Given the description of an element on the screen output the (x, y) to click on. 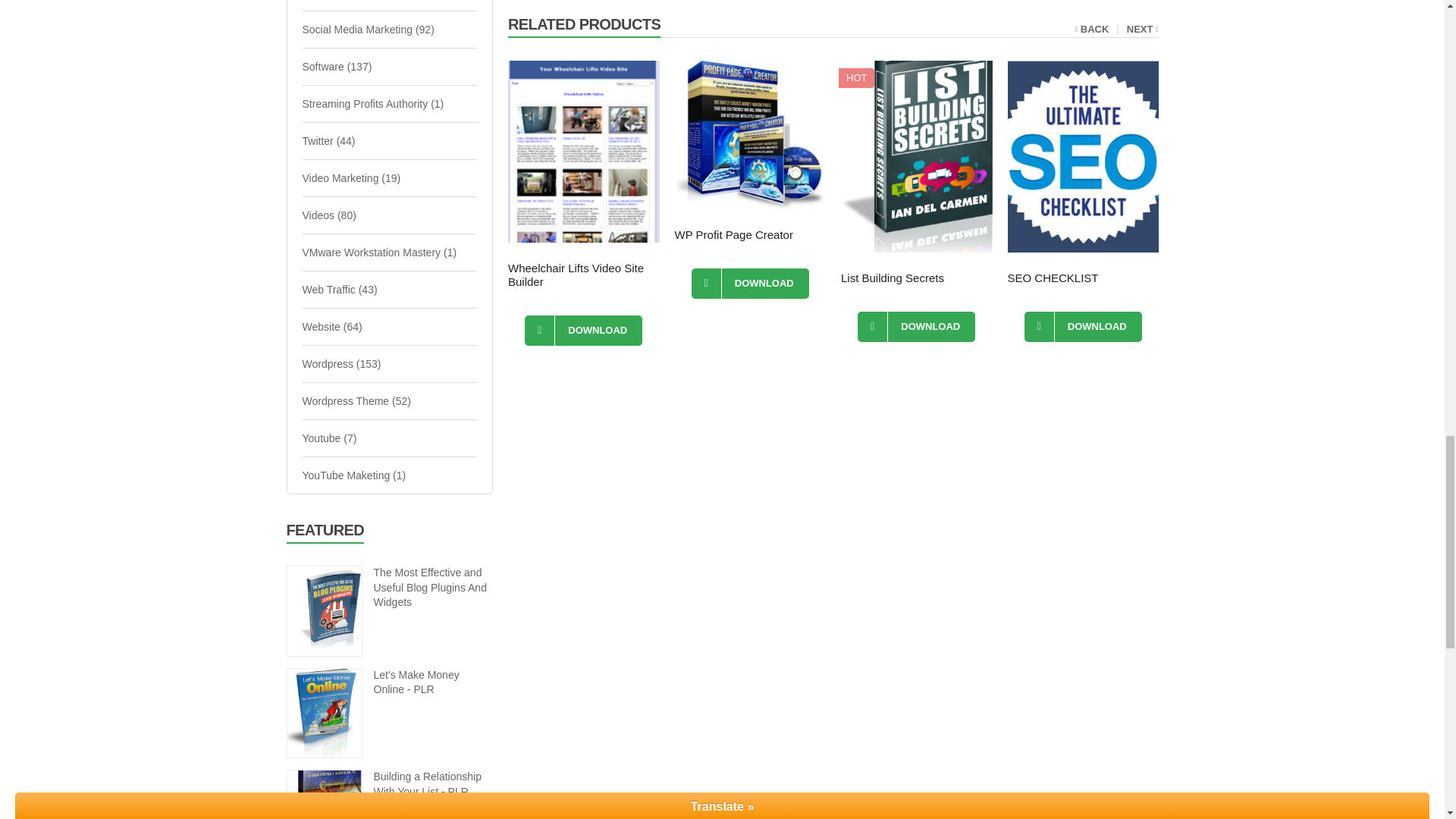
wp profit page creator (751, 134)
